Given the description of an element on the screen output the (x, y) to click on. 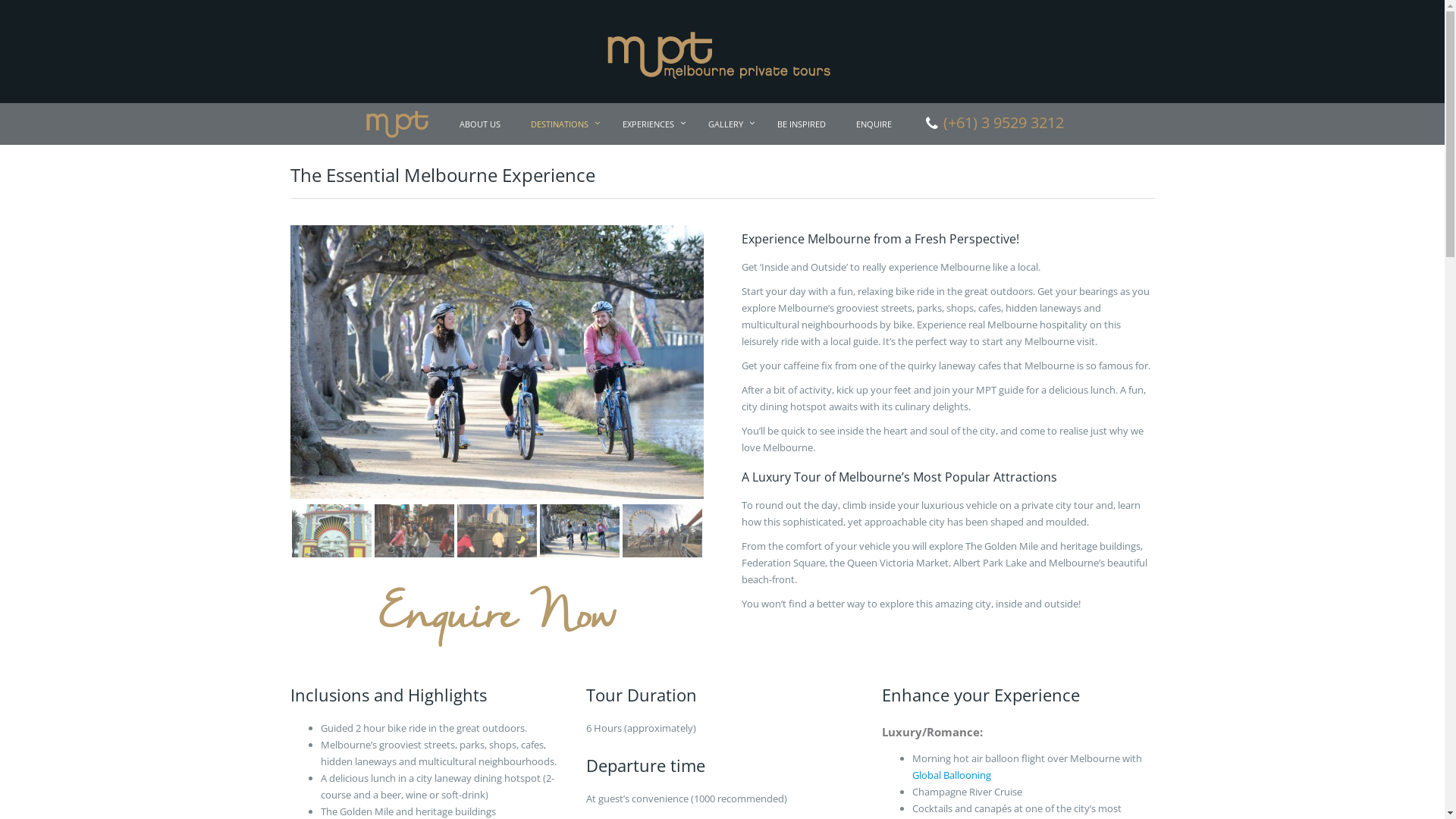
BE INSPIRED Element type: text (801, 123)
Melbourne Private Tours Element type: hover (721, 49)
GALLERY Element type: text (727, 123)
ENQUIRE Element type: text (873, 123)
EXPERIENCES Element type: text (650, 123)
(+61) 3 9529 3212 Element type: text (992, 124)
DESTINATIONS Element type: text (561, 123)
Global Ballooning Element type: text (950, 774)
Enquire Now Element type: text (496, 617)
ABOUT US Element type: text (479, 123)
